Given the description of an element on the screen output the (x, y) to click on. 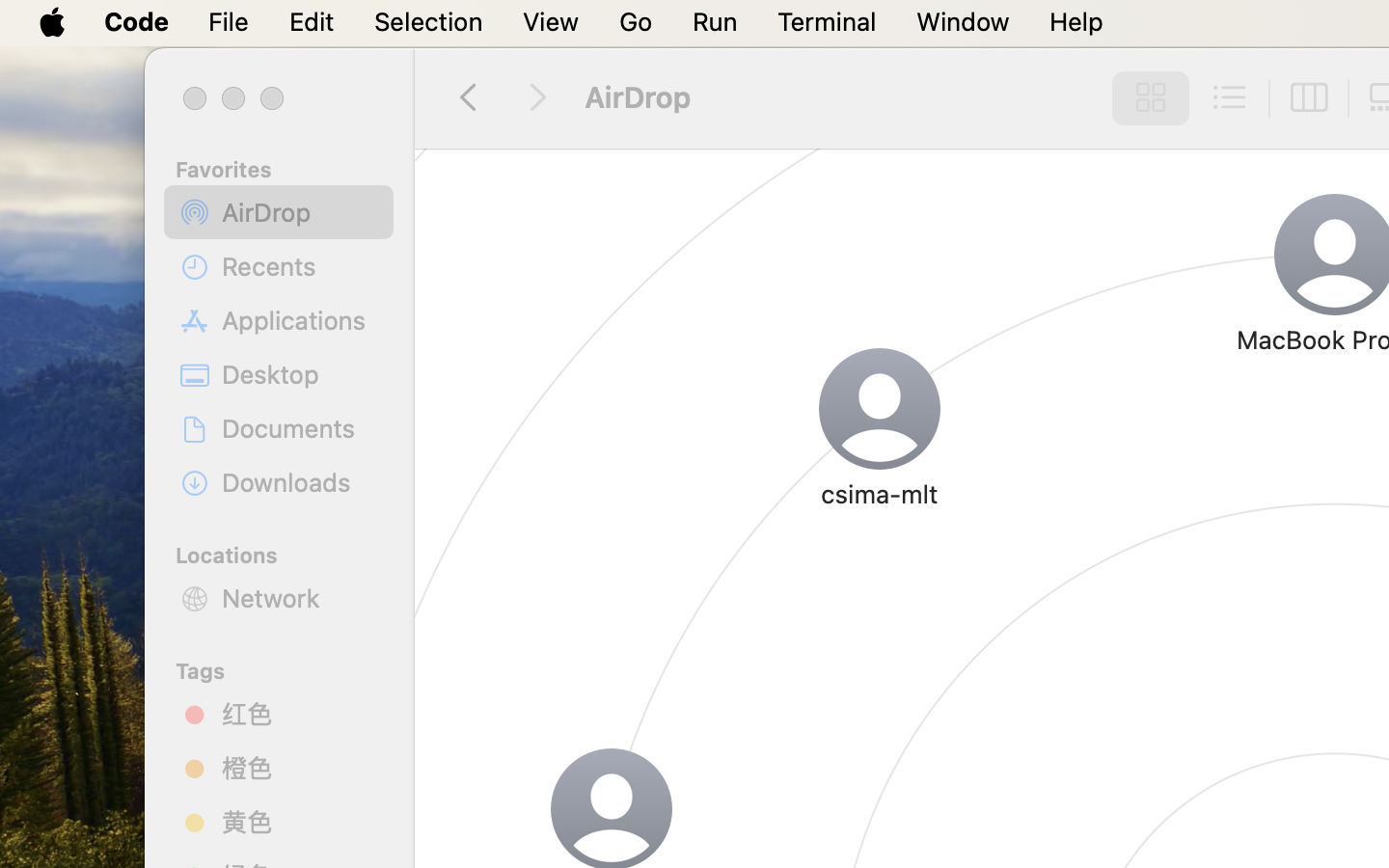
Downloads Element type: AXStaticText (299, 481)
